Given the description of an element on the screen output the (x, y) to click on. 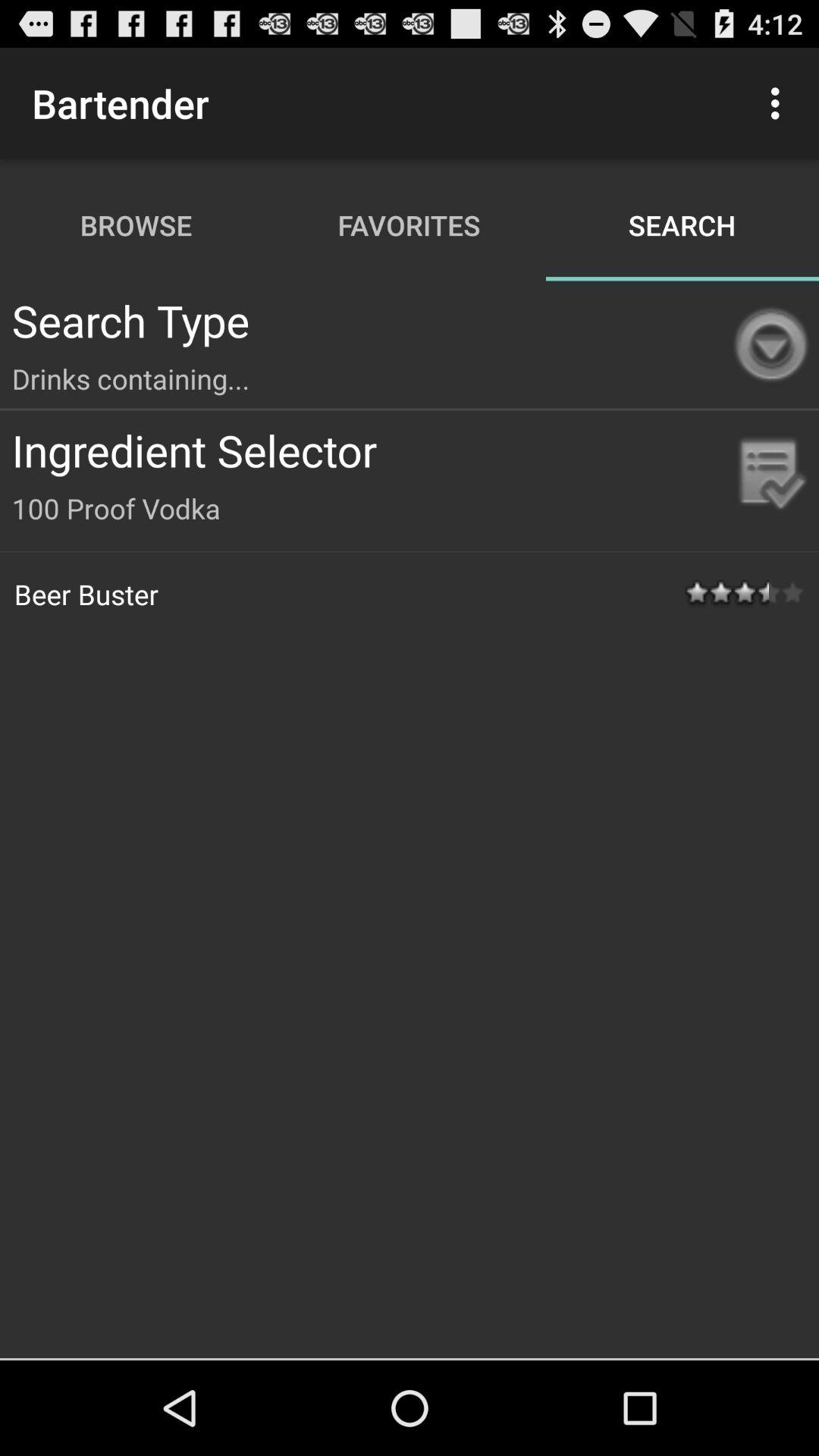
select the icon above the search (779, 103)
click the icon beside the ingredient selector (771, 474)
go to search (682, 225)
